Given the description of an element on the screen output the (x, y) to click on. 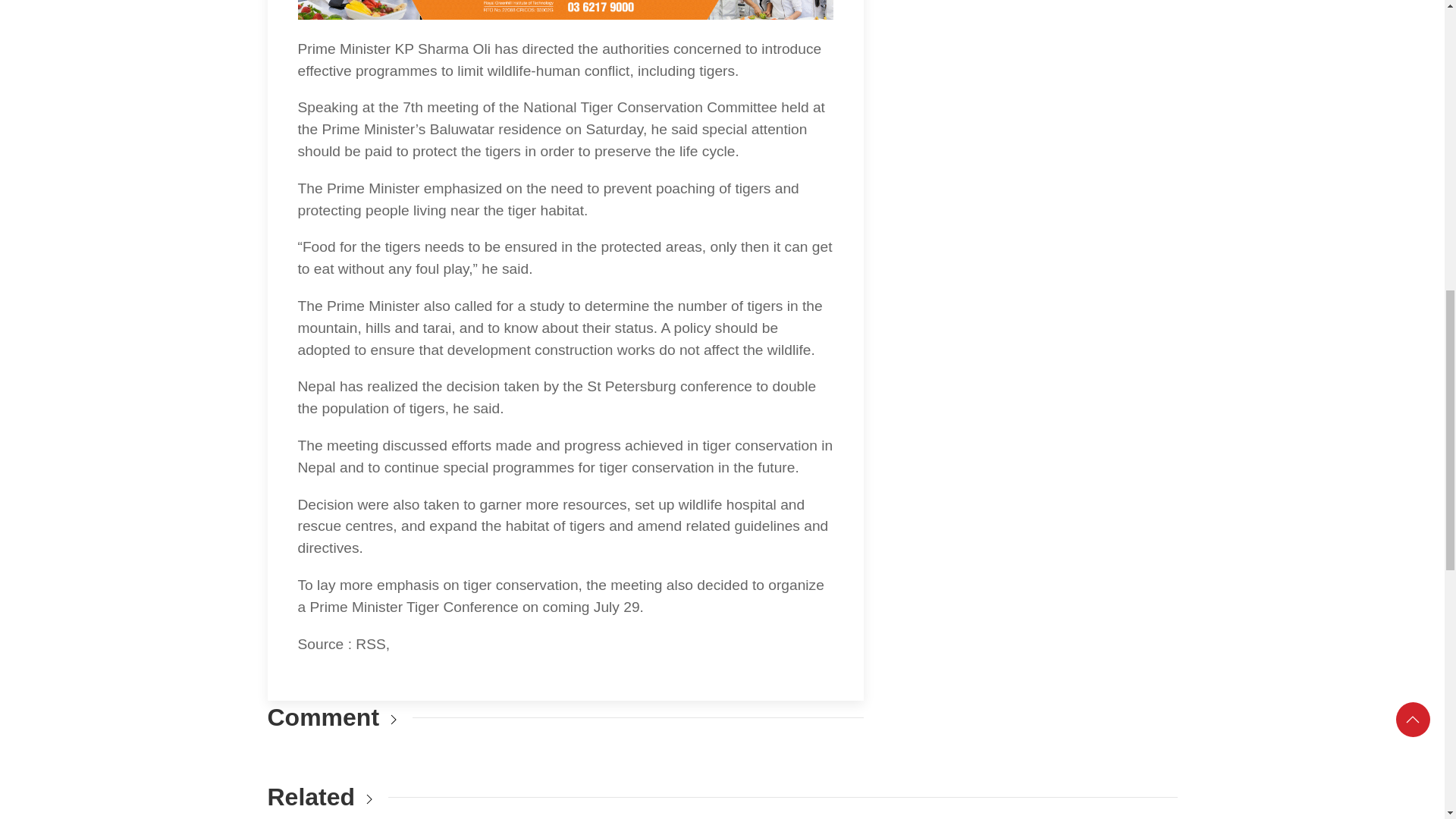
Comment (322, 717)
